Given the description of an element on the screen output the (x, y) to click on. 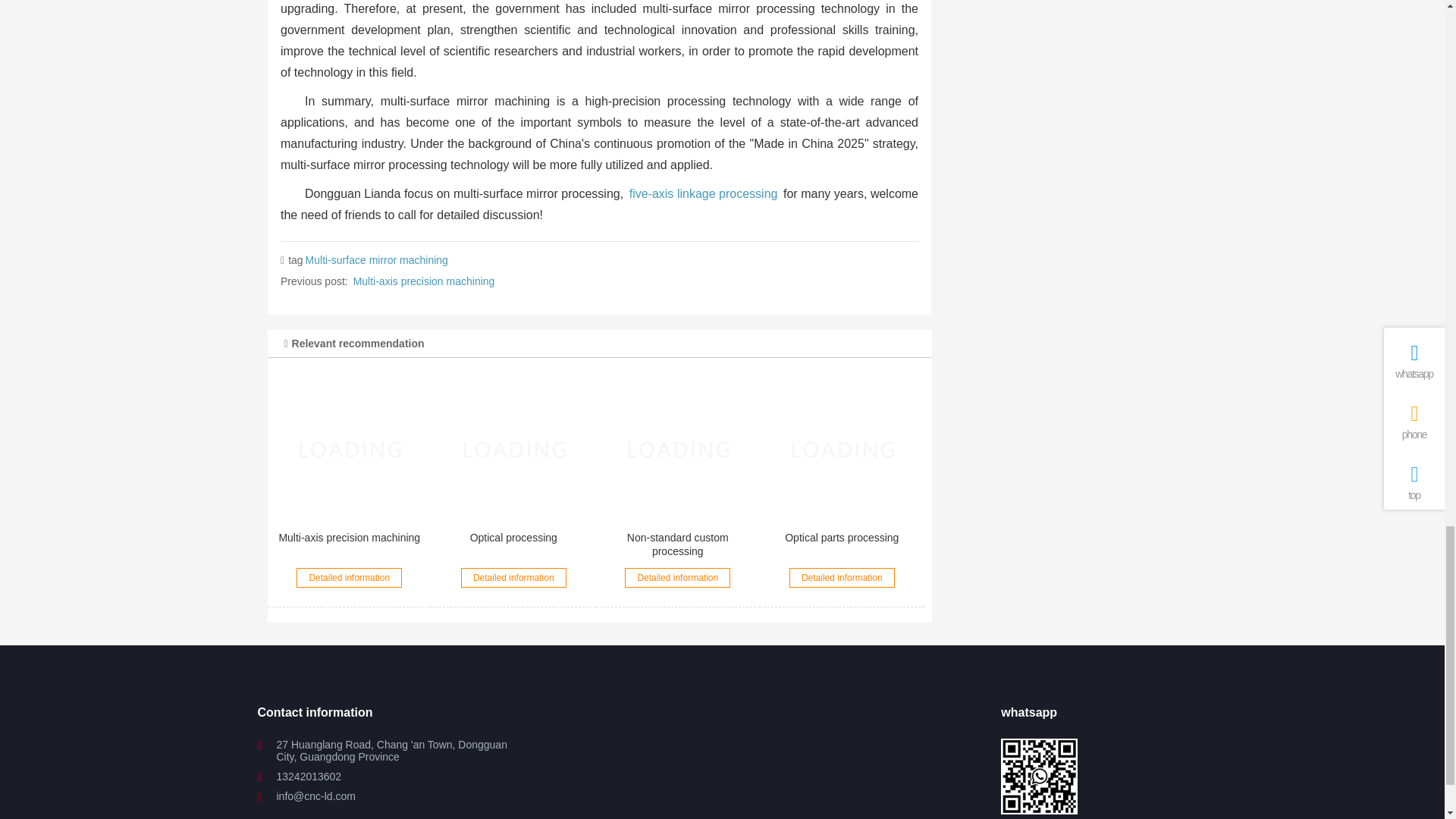
Non-standard custom processing (677, 448)
Optical processing (513, 448)
Optical parts processing (842, 448)
Multi-axis precision machining (350, 448)
